Given the description of an element on the screen output the (x, y) to click on. 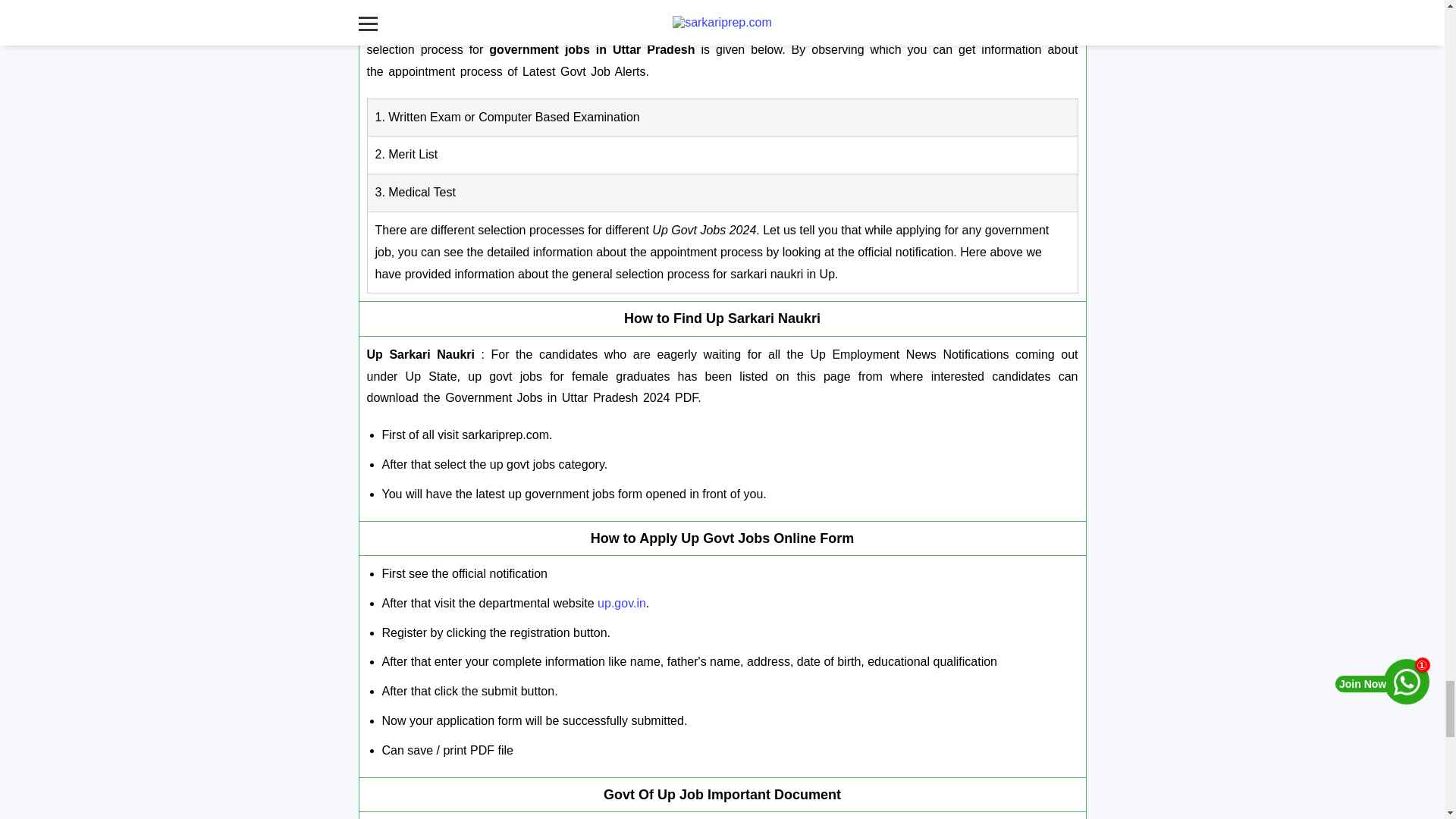
up.gov.in (621, 603)
